Given the description of an element on the screen output the (x, y) to click on. 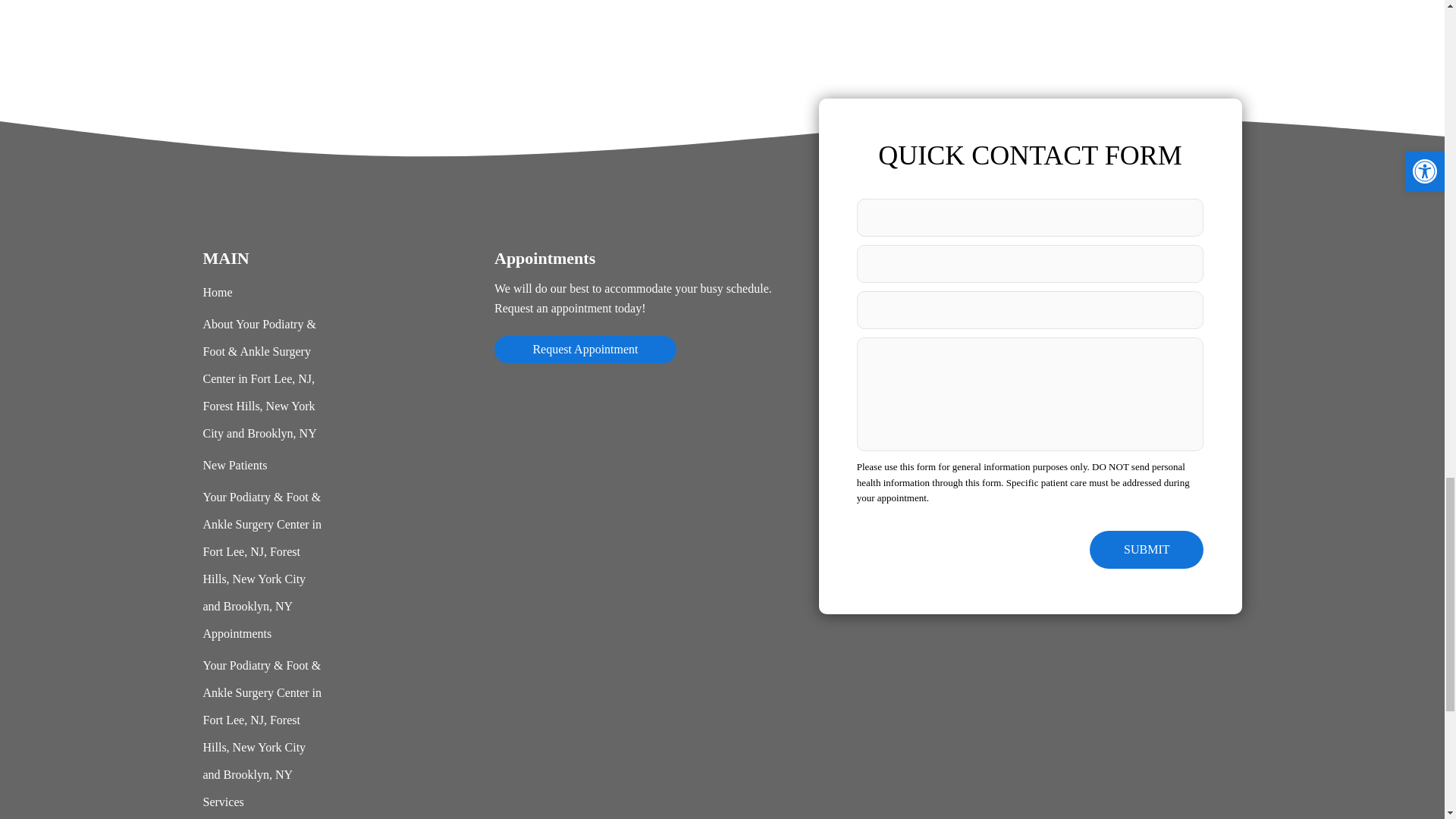
Submit (1146, 549)
